Given the description of an element on the screen output the (x, y) to click on. 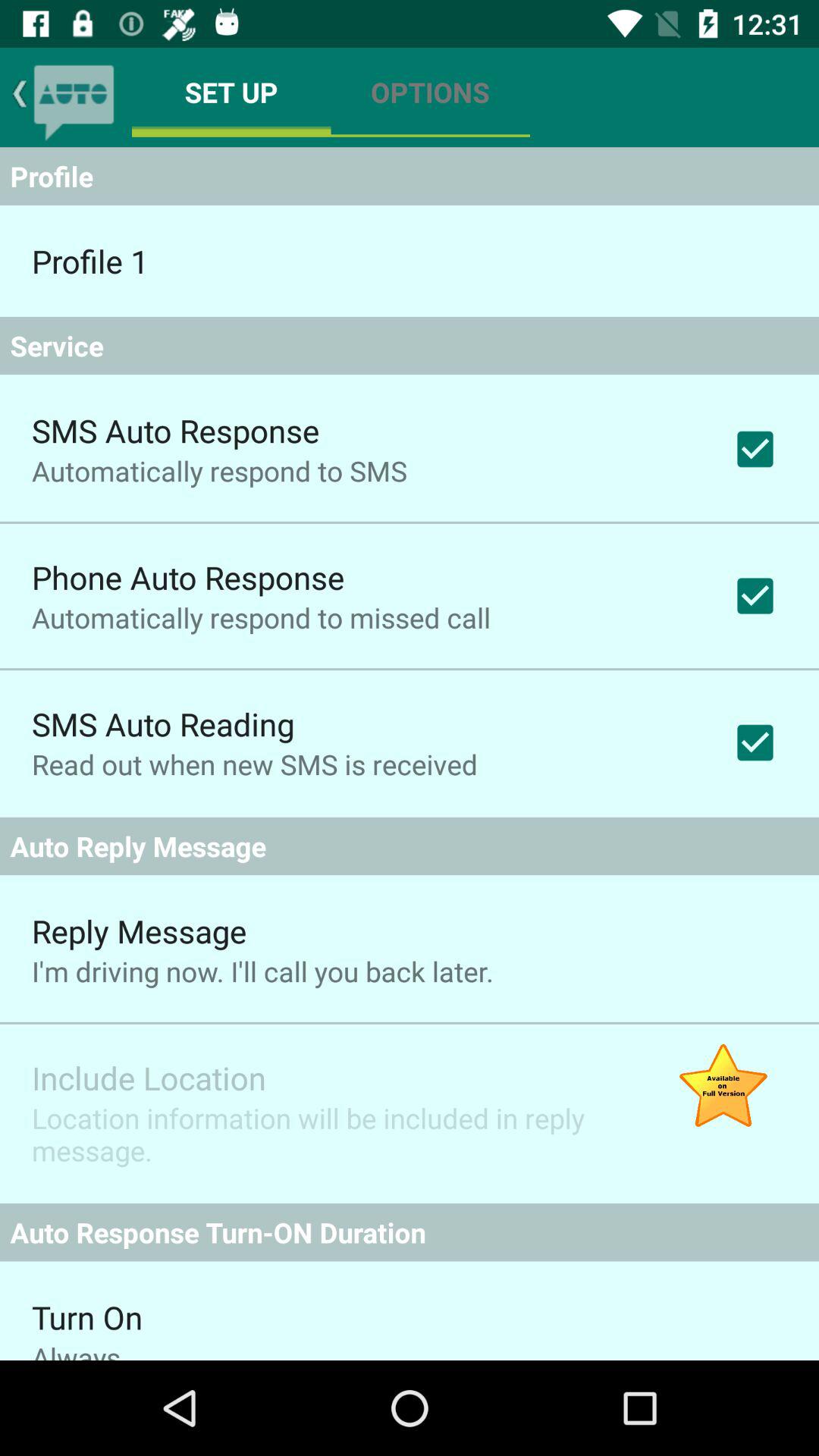
press the item above the sms auto response item (409, 345)
